Given the description of an element on the screen output the (x, y) to click on. 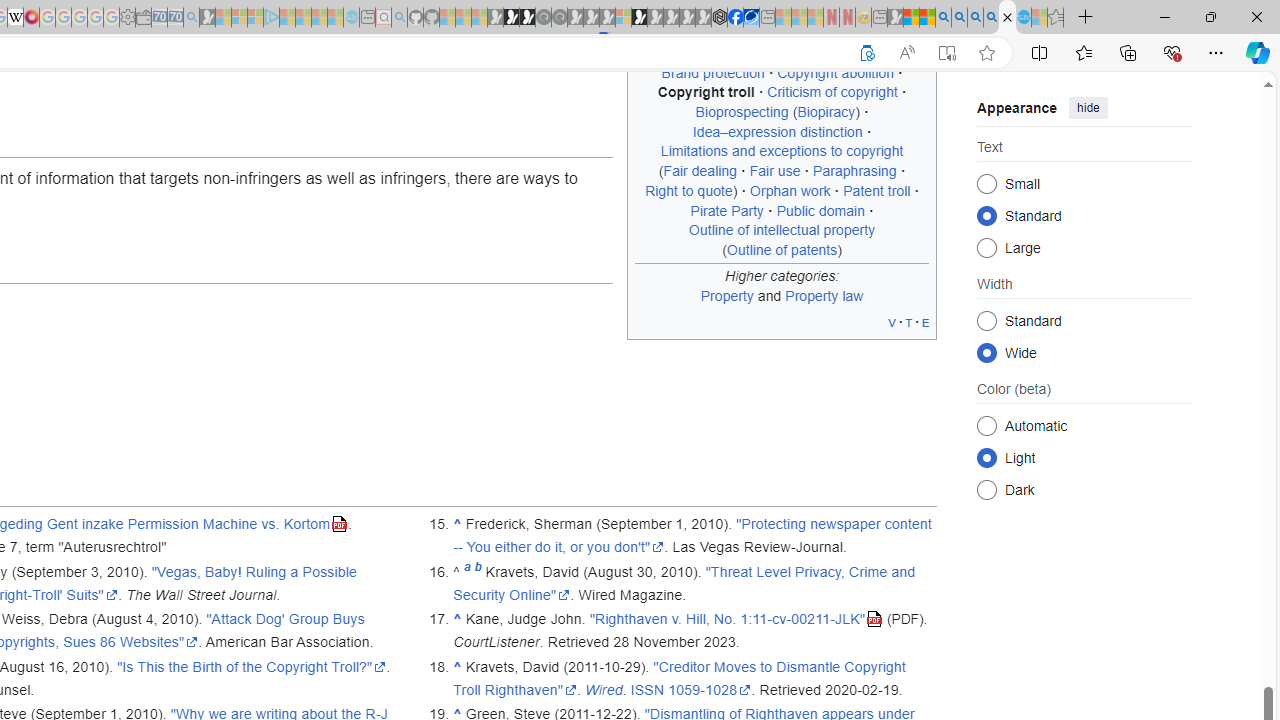
b (477, 571)
Dark (986, 488)
Support Wikipedia? (867, 53)
Home | Sky Blue Bikes - Sky Blue Bikes - Sleeping (351, 17)
Small (986, 182)
Automatic (986, 425)
MediaWiki (31, 17)
github - Search - Sleeping (399, 17)
